Given the description of an element on the screen output the (x, y) to click on. 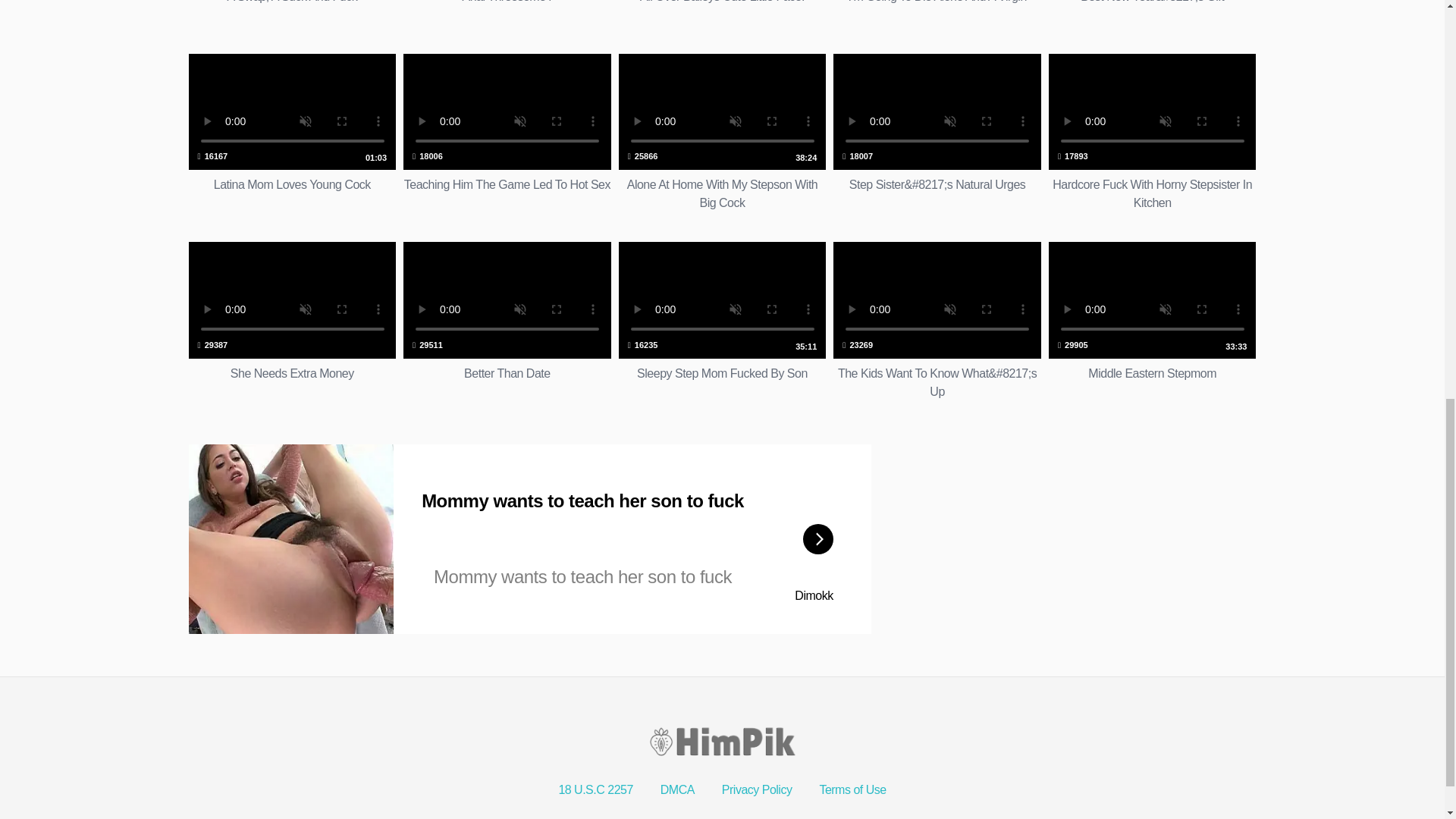
Sleepy Step Mom Fucked By Son (722, 321)
She Needs Extra Money (291, 321)
All Over Baileys Cute Little Face! (507, 321)
Latina Mom Loves Young Cock (291, 132)
18 U.S.C 2257 (1152, 321)
DMCA (722, 12)
Terms of Use (291, 132)
Hardcore Fuck With Horny Stepsister In Kitchen (594, 789)
A Swap, A Suck And Fuck (677, 789)
Teaching Him The Game Led To Hot Sex (851, 789)
